Given the description of an element on the screen output the (x, y) to click on. 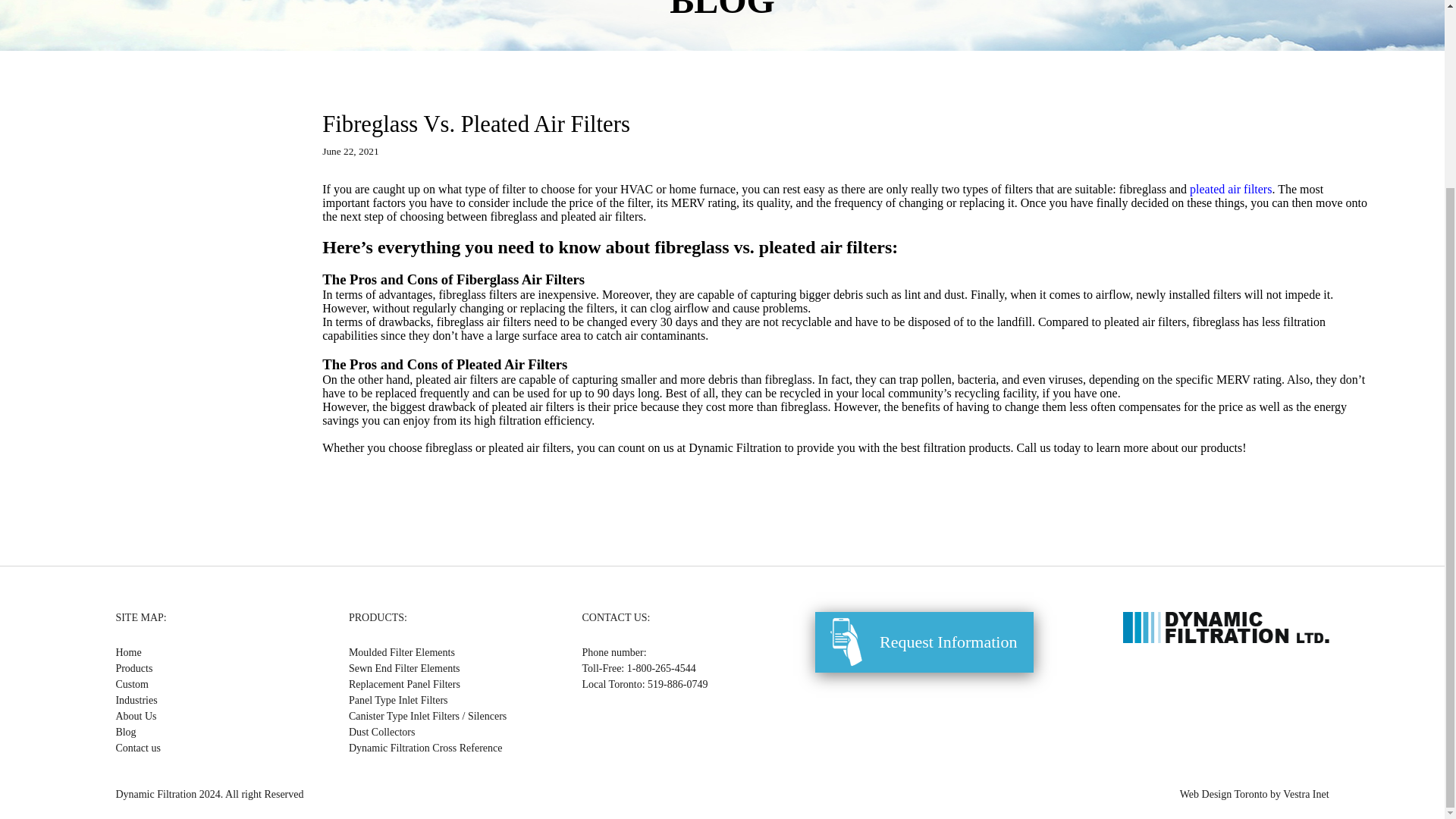
Dynamic Filtration Cross Reference (425, 747)
Web Design Toronto (1223, 794)
pleated air filters (1230, 188)
Contact us (137, 747)
Home (128, 652)
Blog (125, 731)
Replacement Panel Filters (404, 684)
Request Information (924, 641)
Dust Collectors (381, 731)
Panel Type Inlet Filters (398, 699)
Custom (131, 684)
Sewn End Filter Elements (404, 668)
Moulded Filter Elements (401, 652)
Home (128, 652)
About Us (135, 715)
